Given the description of an element on the screen output the (x, y) to click on. 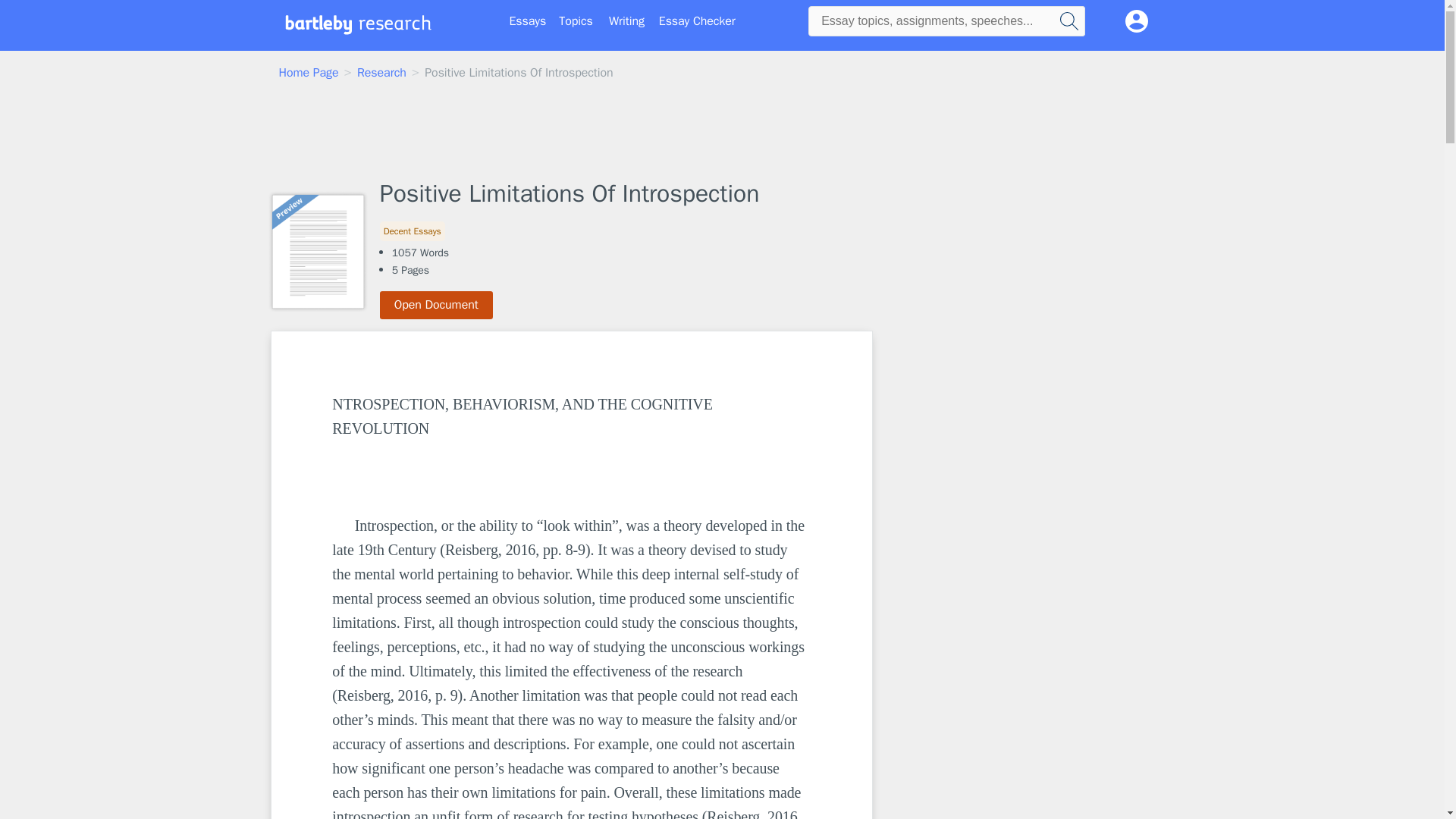
Research (381, 72)
Open Document (436, 305)
Essay Checker (697, 20)
Home Page (309, 72)
Topics (575, 20)
Essays (528, 20)
Writing (626, 20)
